Given the description of an element on the screen output the (x, y) to click on. 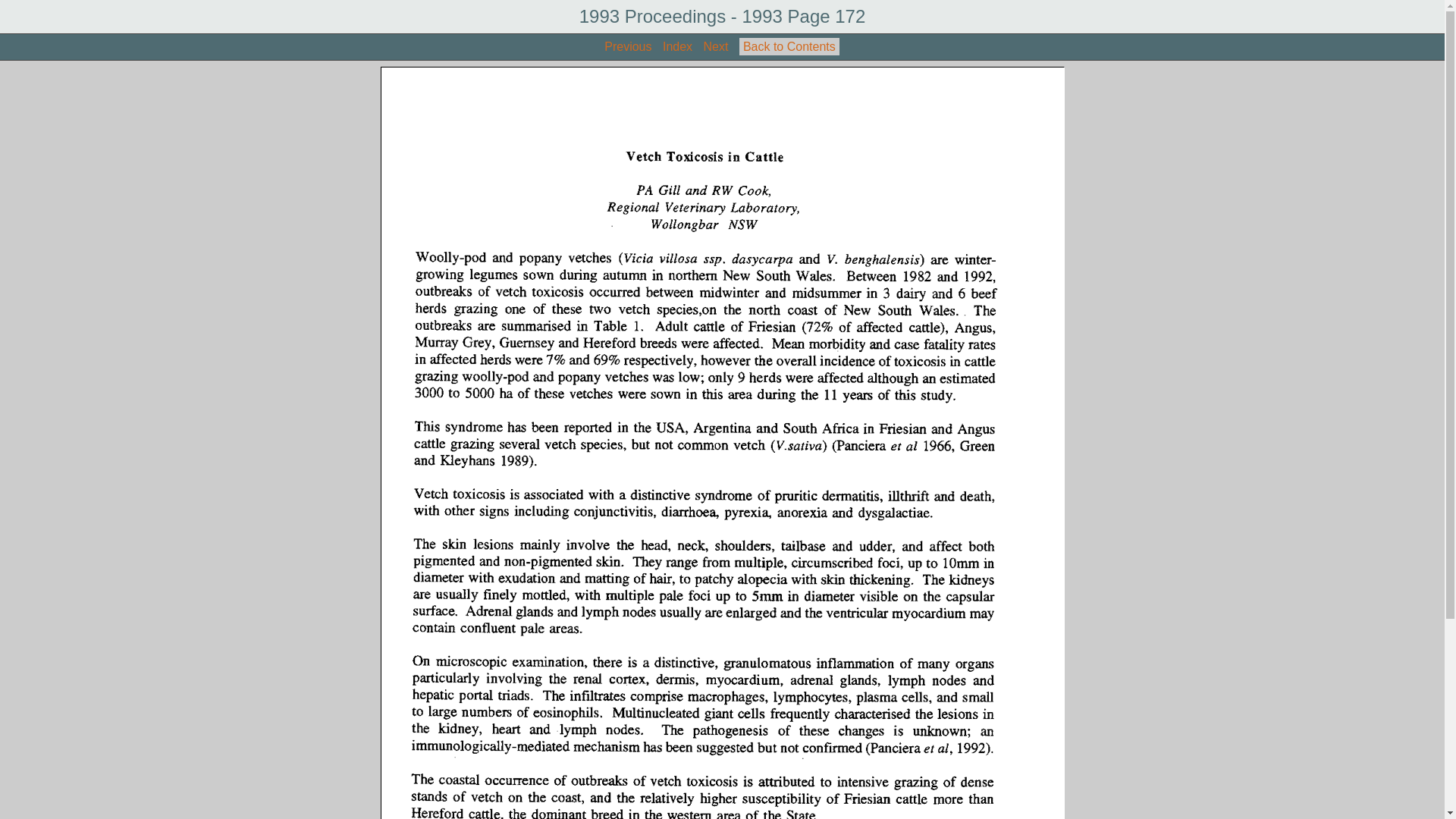
Index Element type: text (677, 46)
Previous Element type: text (627, 46)
Back to Contents Element type: text (789, 46)
Next Element type: text (715, 46)
